Given the description of an element on the screen output the (x, y) to click on. 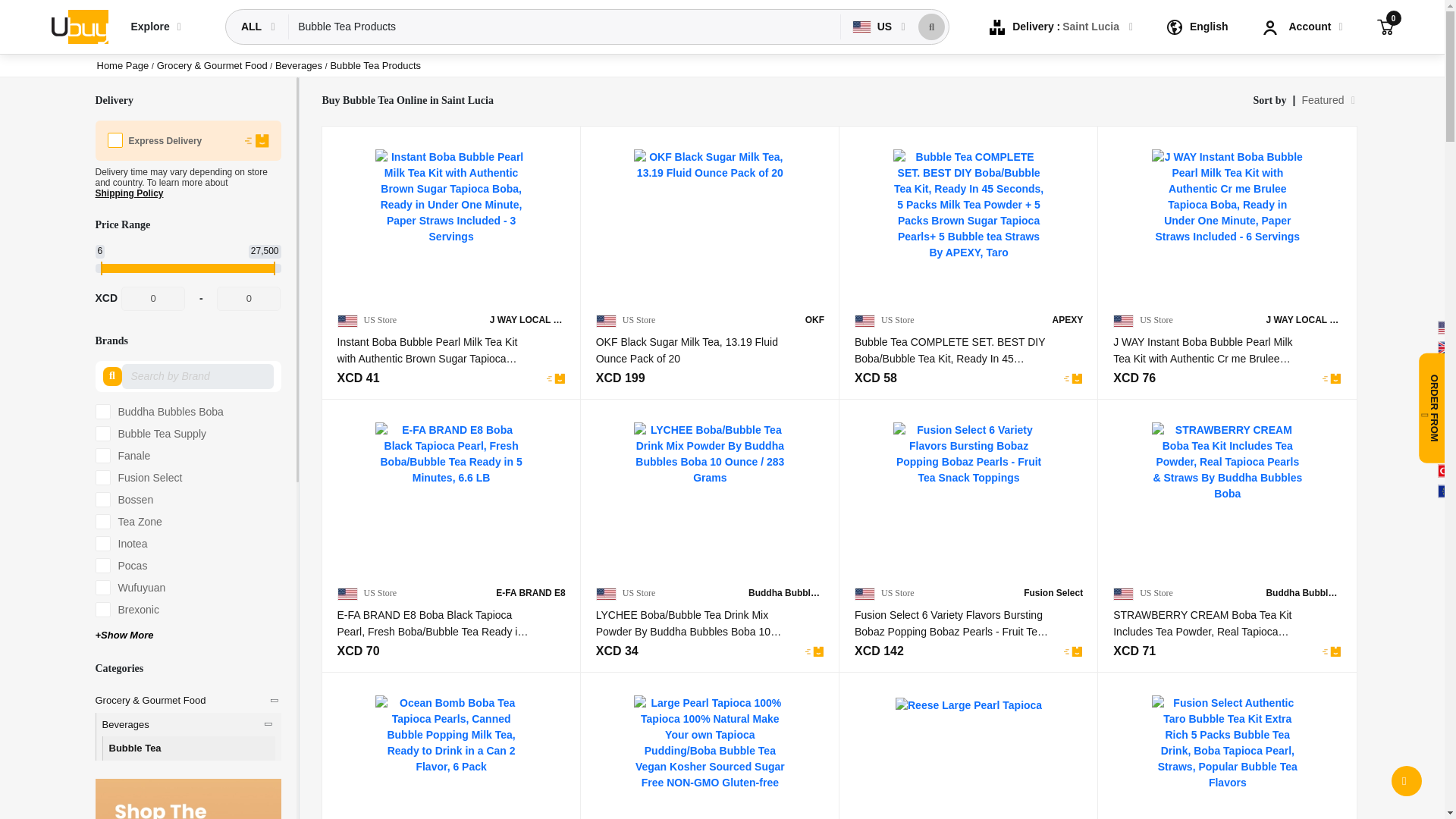
Ubuy (78, 26)
Bubble Tea Products (564, 26)
ALL (253, 26)
US (874, 26)
0 (152, 298)
0 (1385, 26)
0 (248, 298)
